Given the description of an element on the screen output the (x, y) to click on. 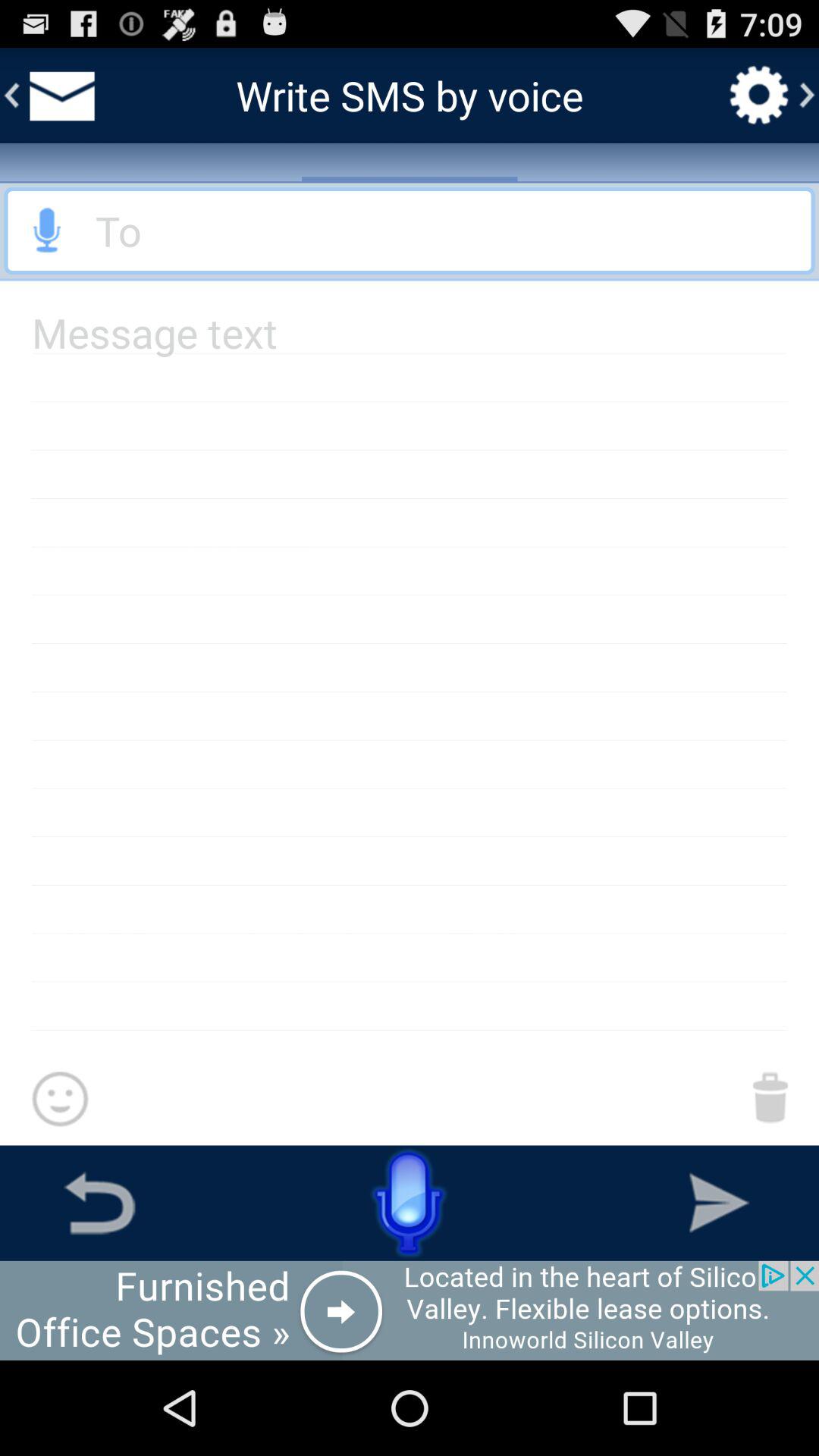
go back audio option (409, 230)
